Given the description of an element on the screen output the (x, y) to click on. 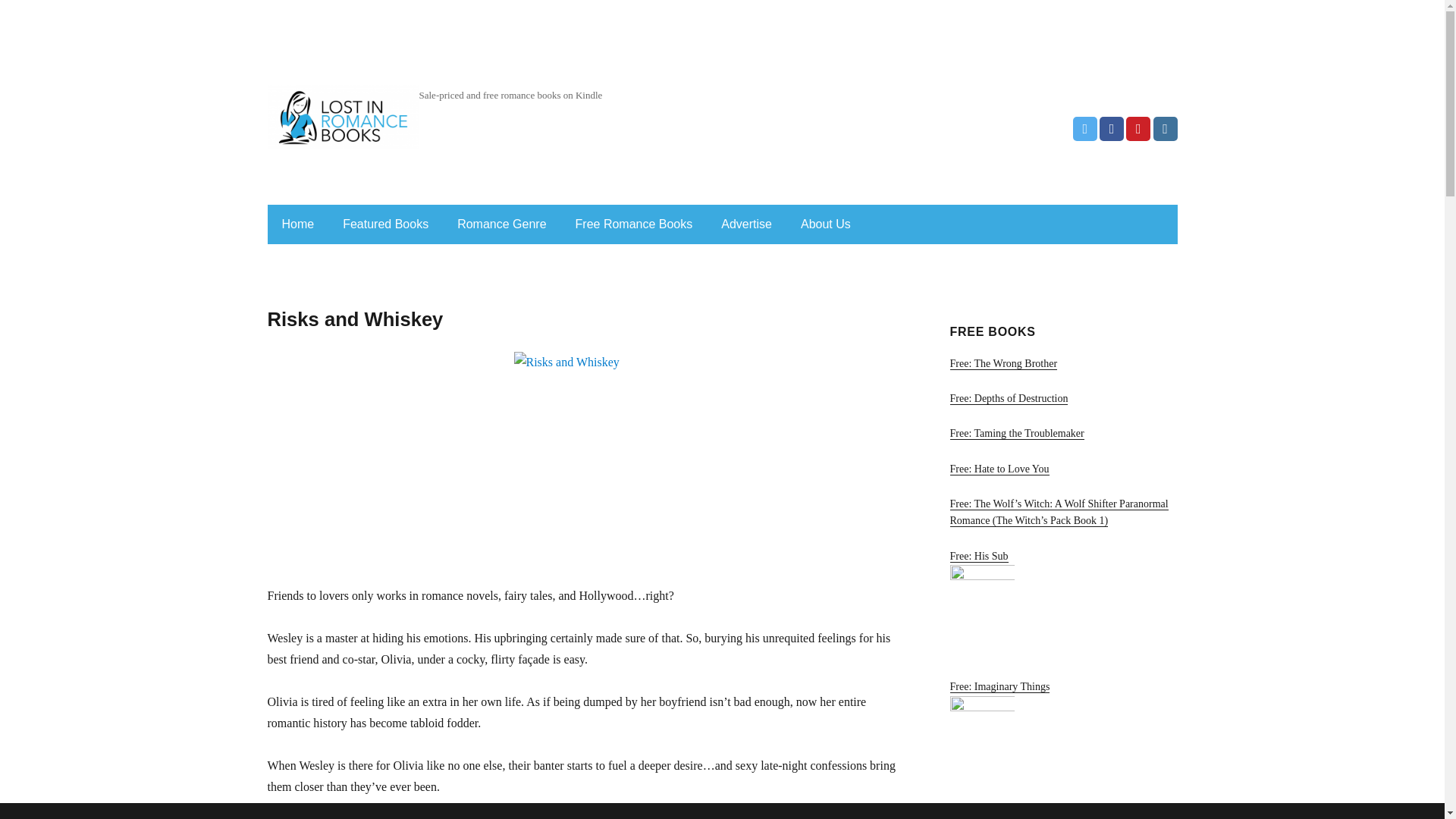
Home (297, 224)
Instagram (1164, 128)
Free: Taming the Troublemaker (1062, 435)
Featured Books (385, 224)
Twitter (1085, 128)
Romance Genre (501, 224)
Free: Hate to Love You (1062, 471)
Free: Depths of Destruction (1062, 400)
Facebook (1111, 128)
Free: His Sub (1062, 605)
